Given the description of an element on the screen output the (x, y) to click on. 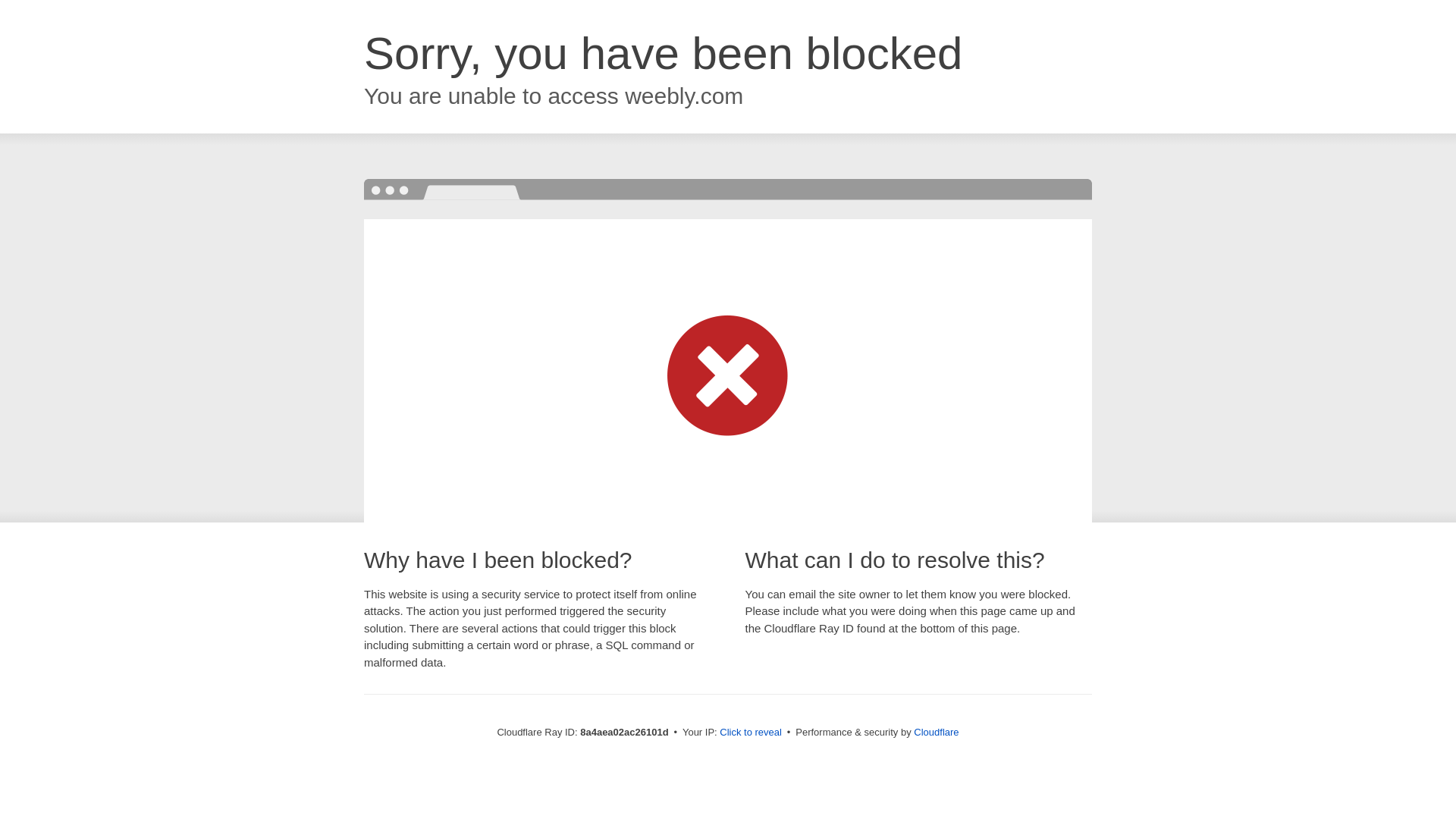
Cloudflare (936, 731)
Click to reveal (750, 732)
